Given the description of an element on the screen output the (x, y) to click on. 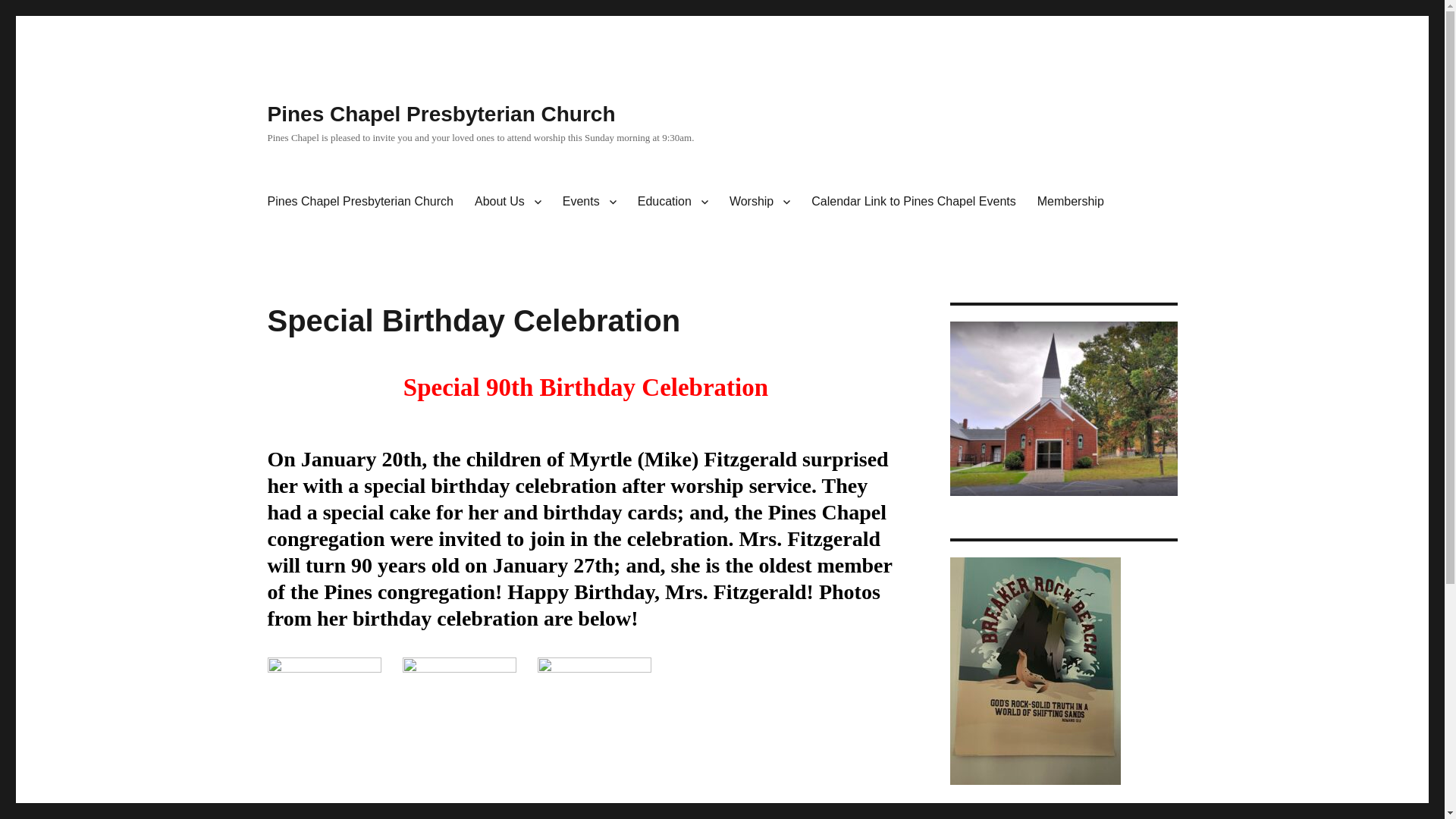
Pines Chapel Events and Calendar  (589, 201)
Membership (1070, 201)
Events (589, 201)
Pines Chapel Presbyterian Church (359, 201)
About Us (507, 201)
Members Only (1070, 201)
Education (673, 201)
Pines Chapel Presbyterian Church (440, 114)
Calendar Link to Pines Chapel Events (913, 201)
Worship (759, 201)
